Given the description of an element on the screen output the (x, y) to click on. 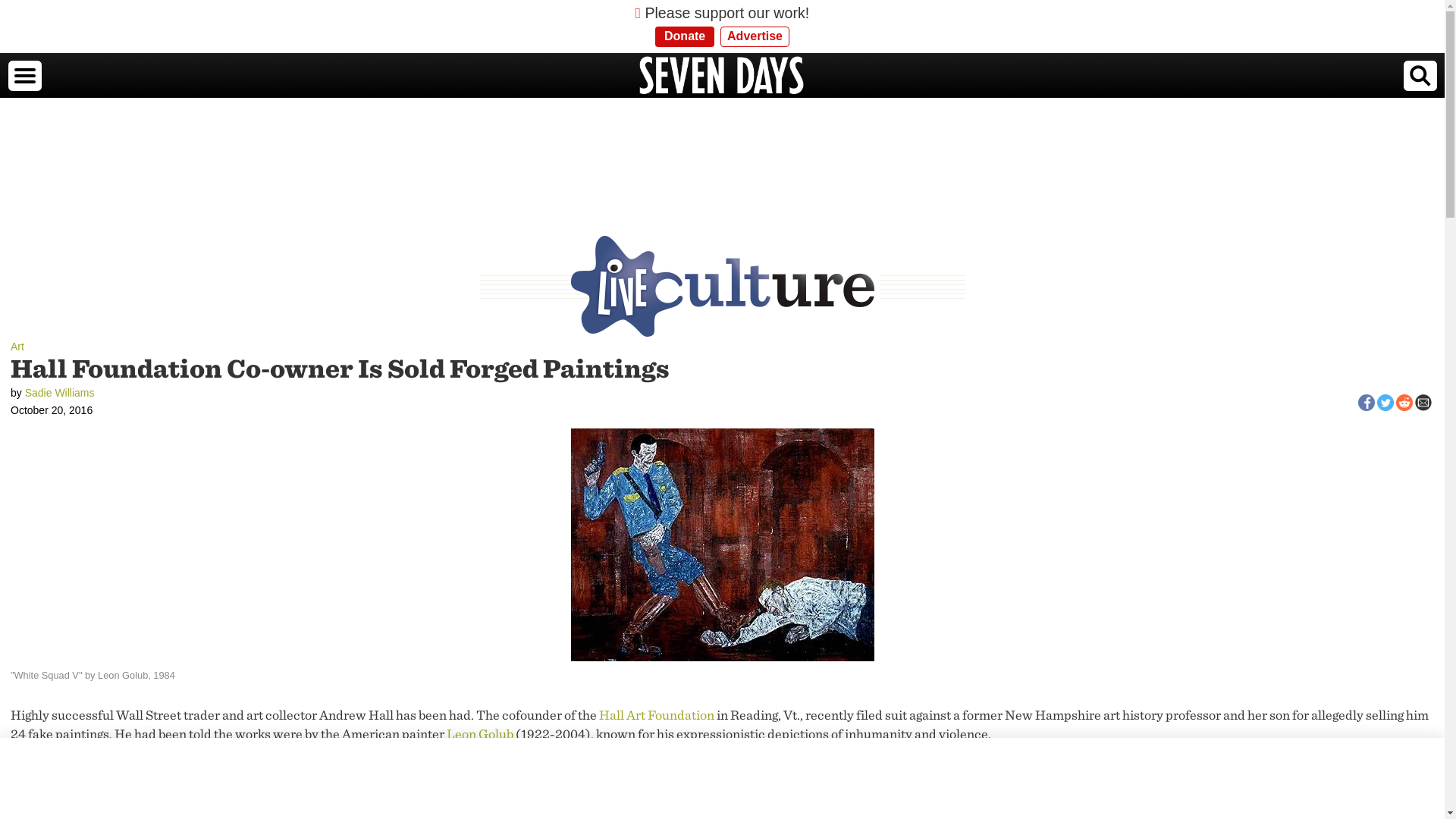
MENU (23, 75)
Donate (684, 36)
3rd party ad content (721, 777)
3rd party ad content (721, 148)
Seven Days (722, 75)
Advertise (754, 36)
SEARCH (1419, 75)
